Given the description of an element on the screen output the (x, y) to click on. 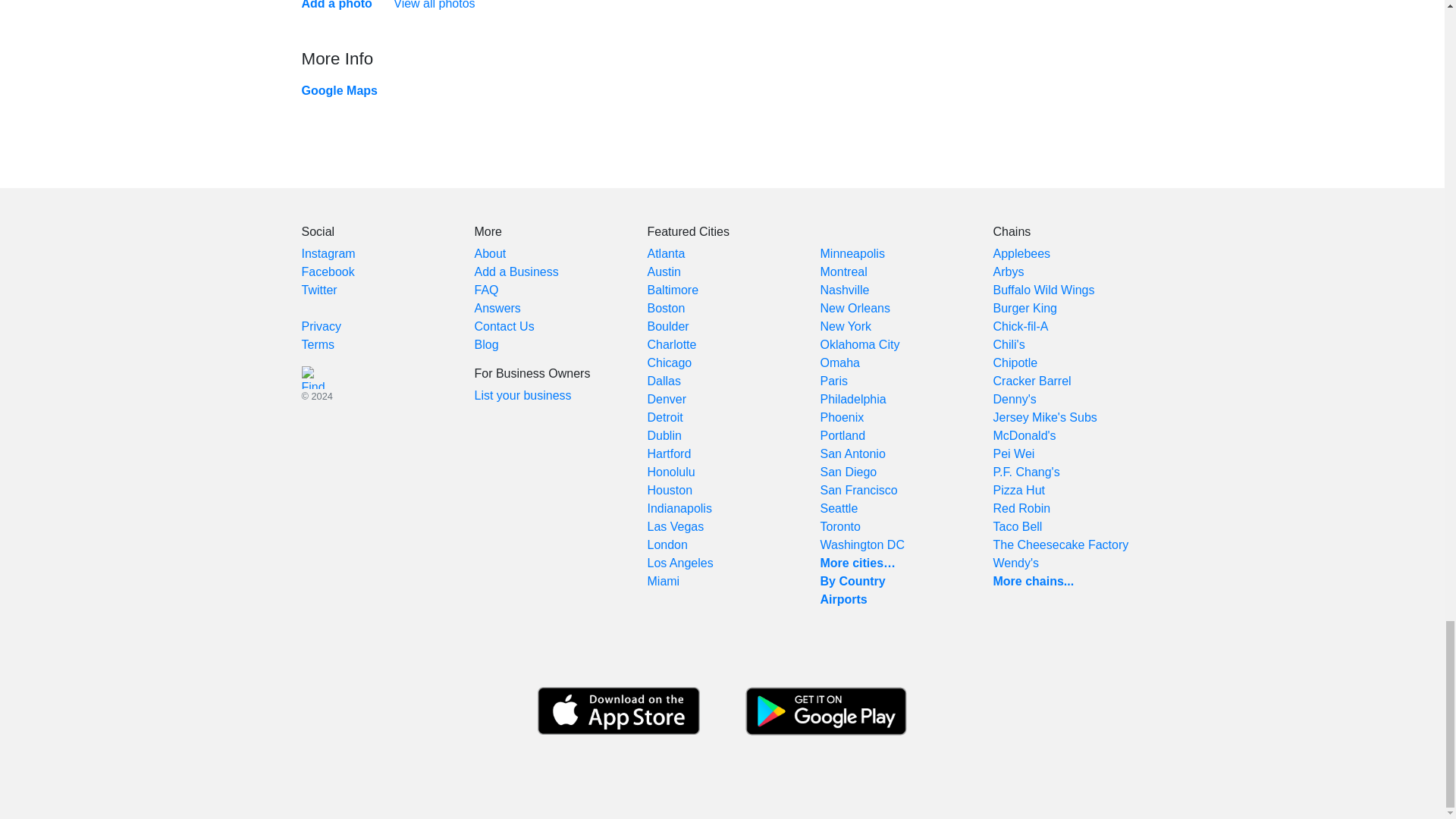
Terms (317, 344)
Facebook (328, 271)
Twitter (319, 289)
Privacy (320, 326)
View all photos (433, 4)
Add a photo (336, 4)
Google Maps (339, 90)
Instagram (328, 253)
